Given the description of an element on the screen output the (x, y) to click on. 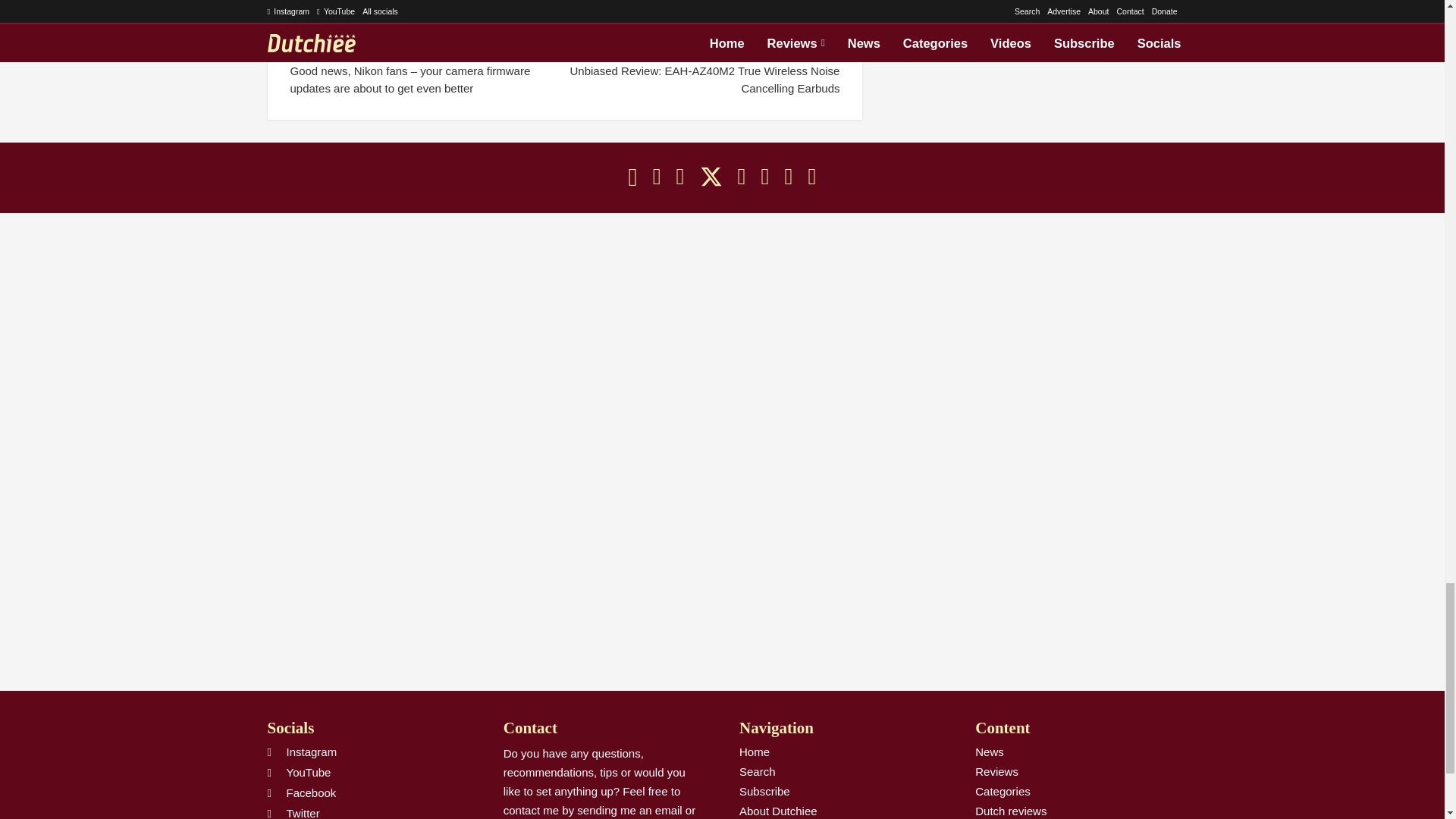
Tweet this (495, 1)
Pin this (633, 1)
Share this (357, 1)
Share this (772, 1)
Twitter (711, 177)
